Given the description of an element on the screen output the (x, y) to click on. 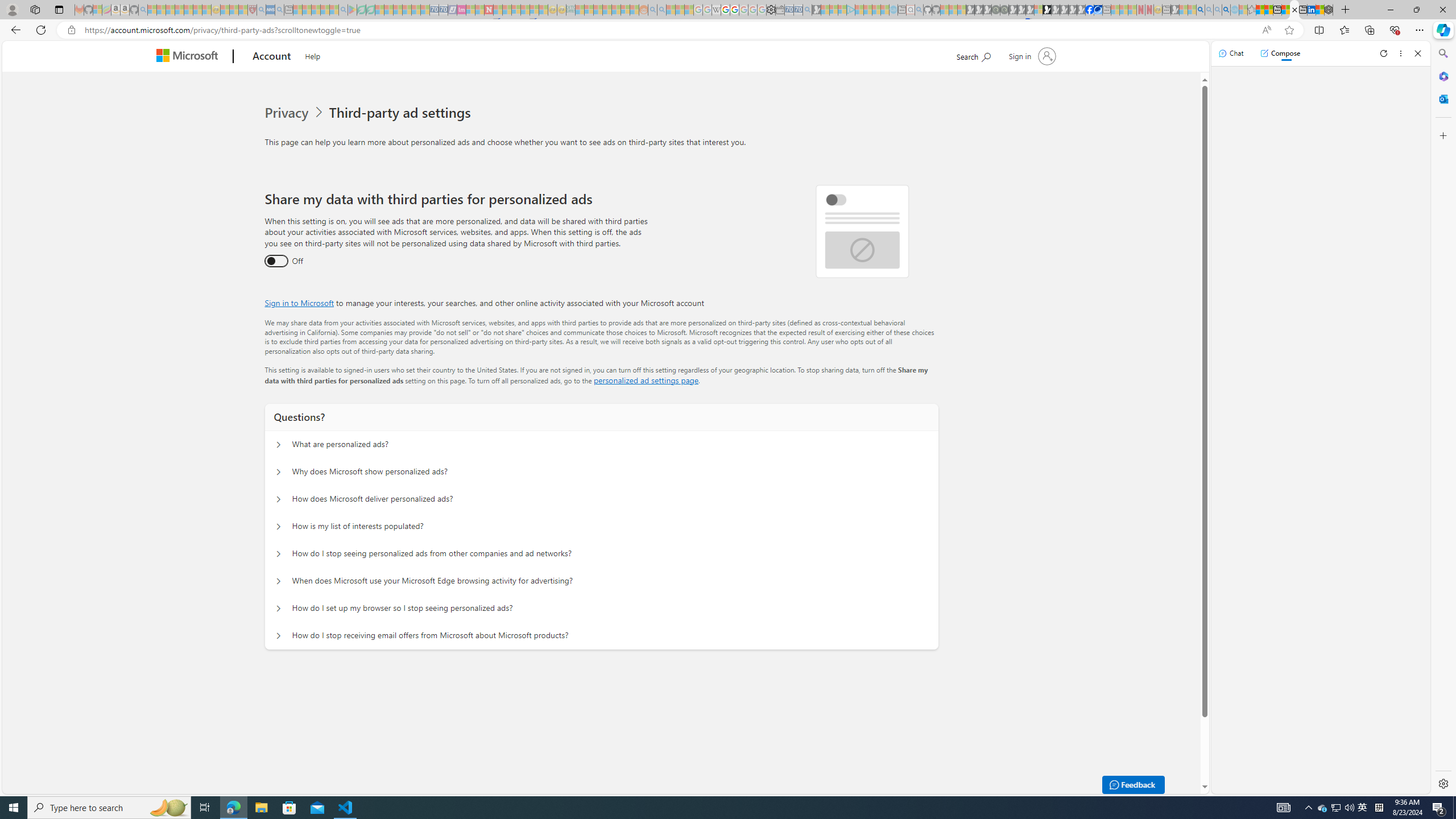
MSN - Sleeping (1174, 9)
LinkedIn (1311, 9)
AQI & Health | AirNow.gov (1098, 9)
